Given the description of an element on the screen output the (x, y) to click on. 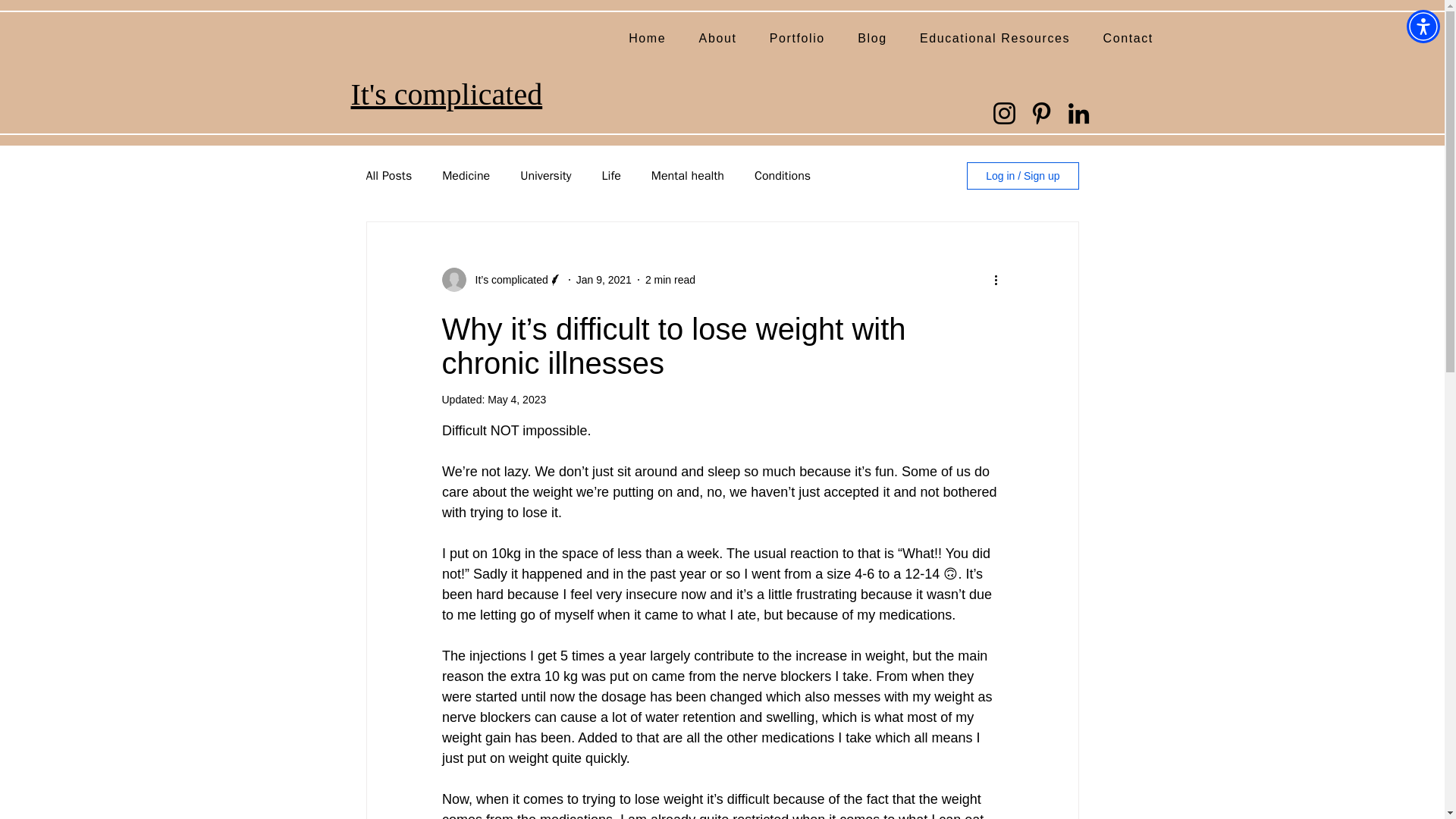
University (544, 176)
All Posts (388, 176)
May 4, 2023 (516, 399)
Jan 9, 2021 (603, 278)
It's complicated (445, 93)
Conditions (782, 176)
Mental health (686, 176)
About (717, 39)
Accessibility Menu (1422, 26)
Life (611, 176)
Portfolio (796, 39)
Educational Resources (994, 39)
Contact (1128, 39)
Blog (872, 39)
2 min read (670, 278)
